Given the description of an element on the screen output the (x, y) to click on. 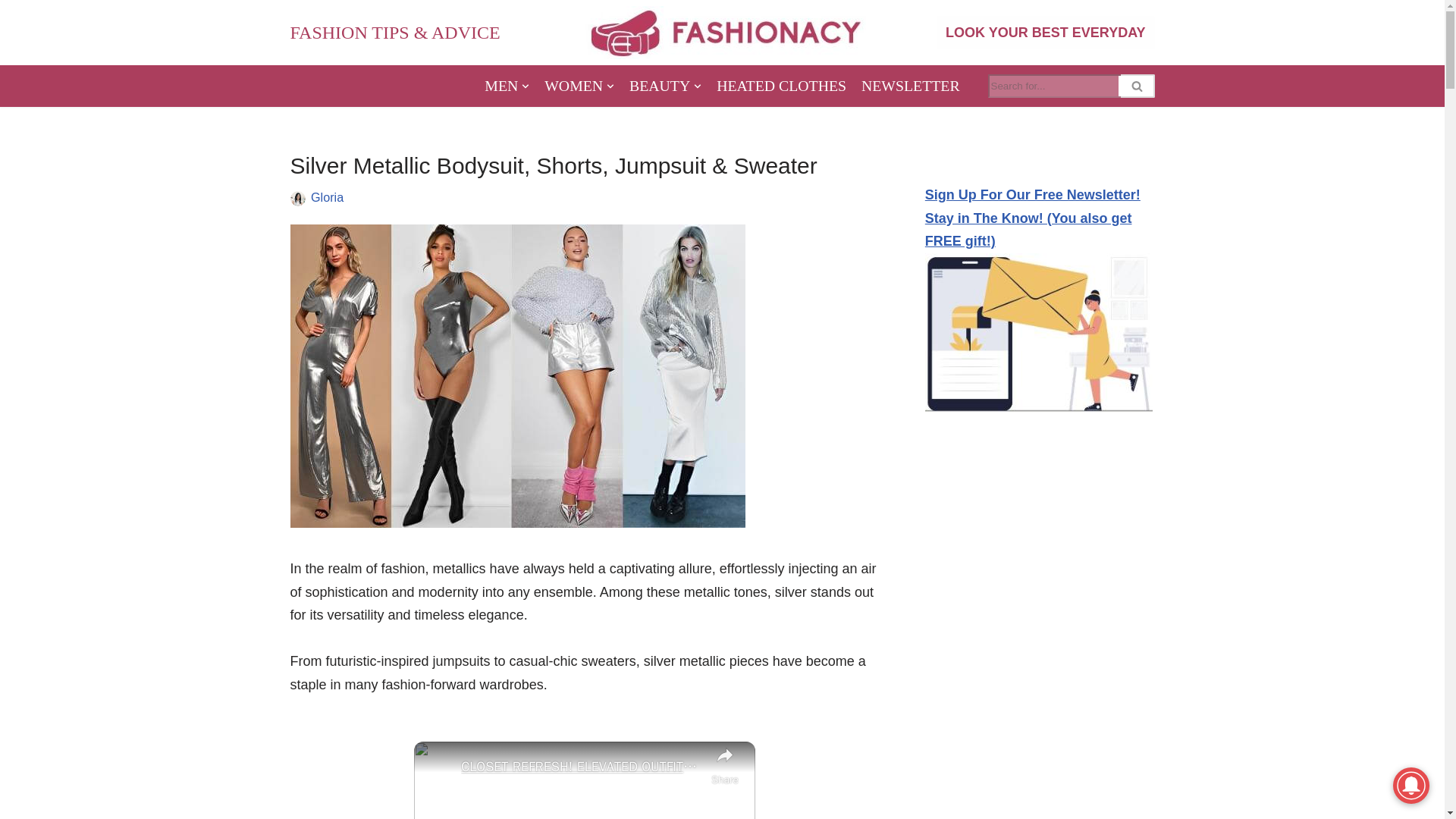
Skip to content (11, 31)
BEAUTY (664, 86)
LOOK YOUR BEST EVERYDAY (1045, 32)
MEN (506, 86)
WOMEN (579, 86)
Posts by Gloria (327, 196)
